Given the description of an element on the screen output the (x, y) to click on. 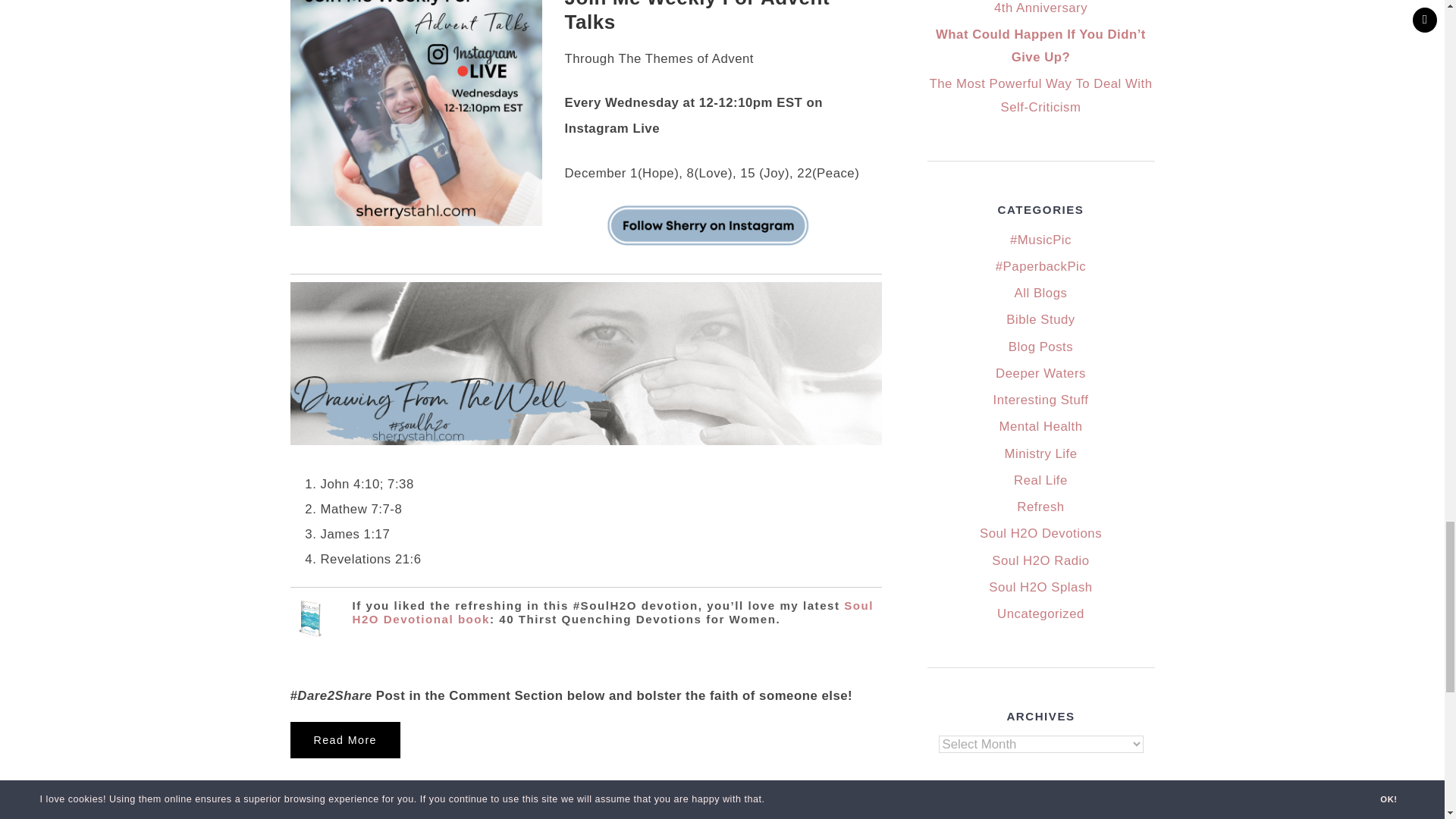
Soul H2O Devotional book (612, 612)
Read More (343, 739)
